Given the description of an element on the screen output the (x, y) to click on. 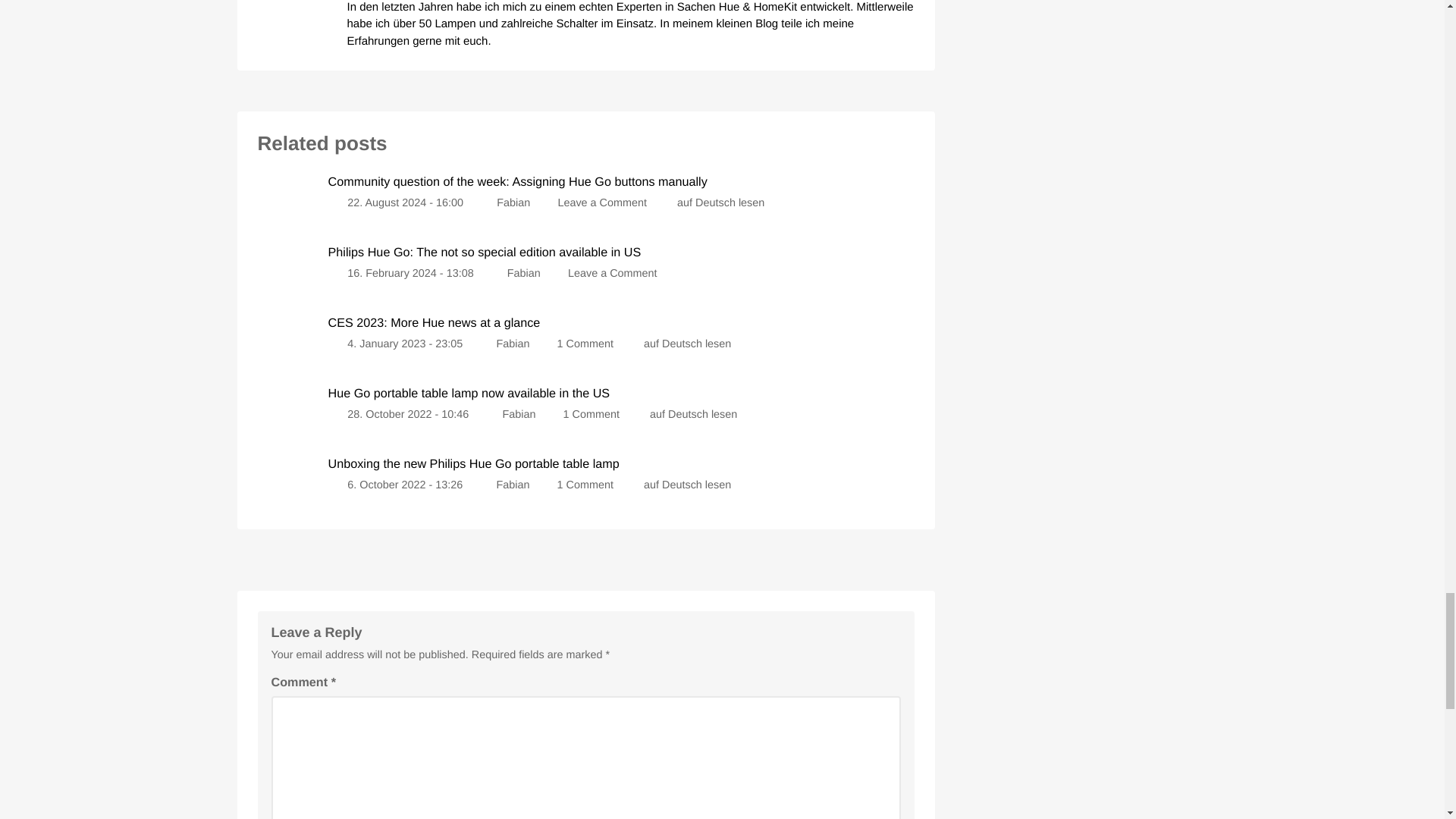
auf Deutsch lesen (720, 203)
auf Deutsch lesen (686, 485)
auf Deutsch lesen (686, 344)
auf Deutsch lesen (692, 414)
